Given the description of an element on the screen output the (x, y) to click on. 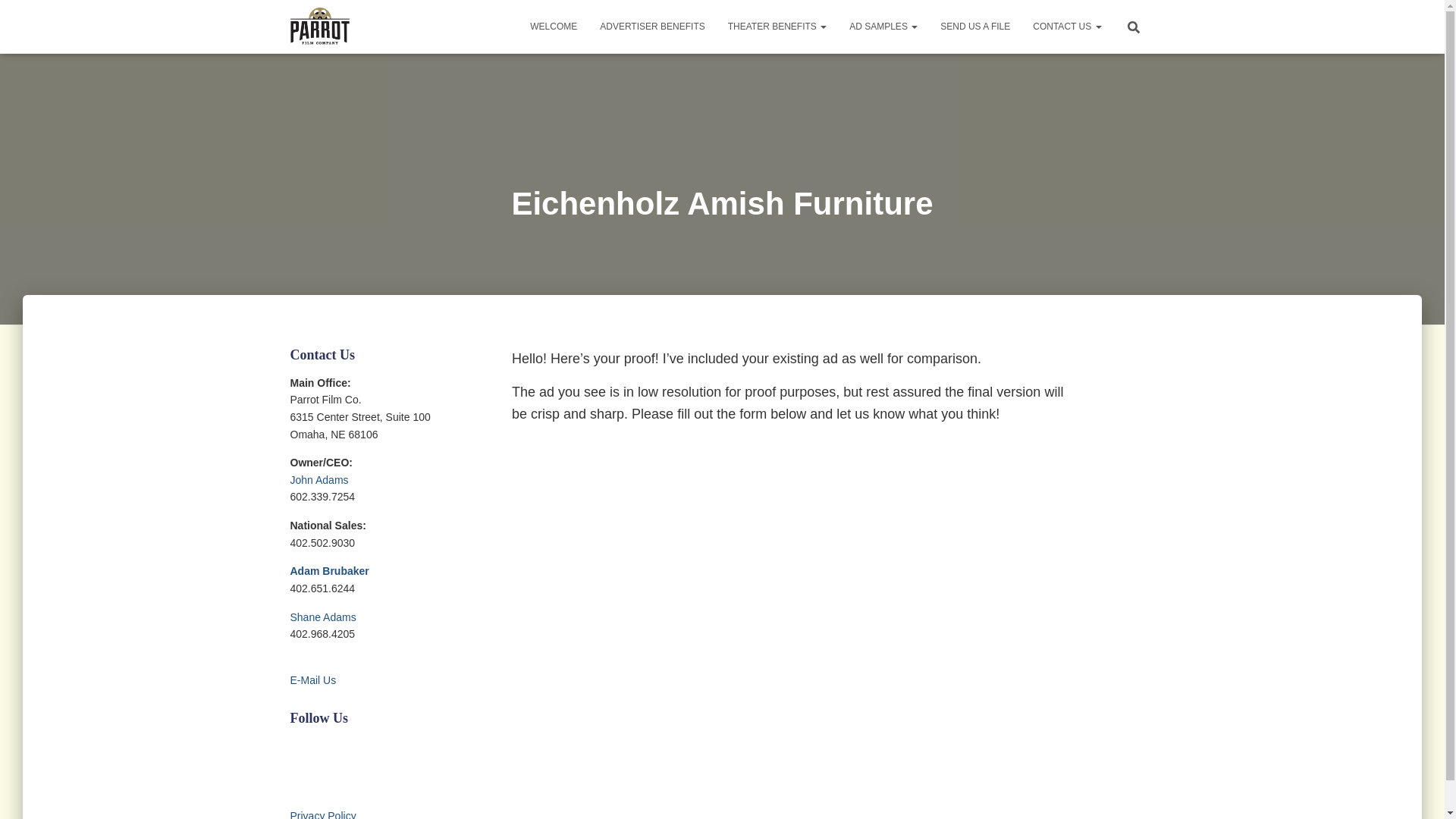
Privacy Policy (322, 814)
Welcome (553, 26)
THEATER BENEFITS (777, 26)
E-Mail Us (312, 688)
AD SAMPLES (883, 26)
SEND US A FILE (975, 26)
Send Us a File (975, 26)
Facebook (298, 746)
WELCOME (553, 26)
ADVERTISER BENEFITS (652, 26)
